Given the description of an element on the screen output the (x, y) to click on. 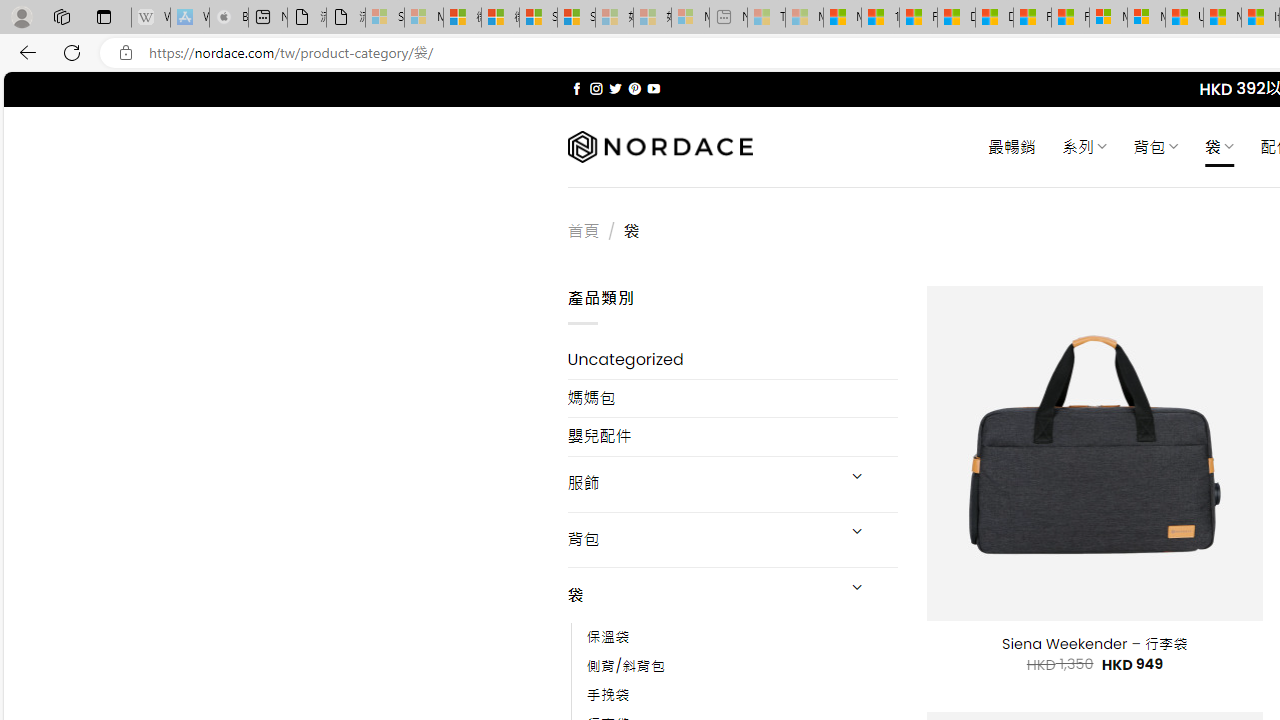
Top Stories - MSN - Sleeping (765, 17)
Follow on Pinterest (634, 88)
Follow on Instagram (596, 88)
Follow on Facebook (576, 88)
